Given the description of an element on the screen output the (x, y) to click on. 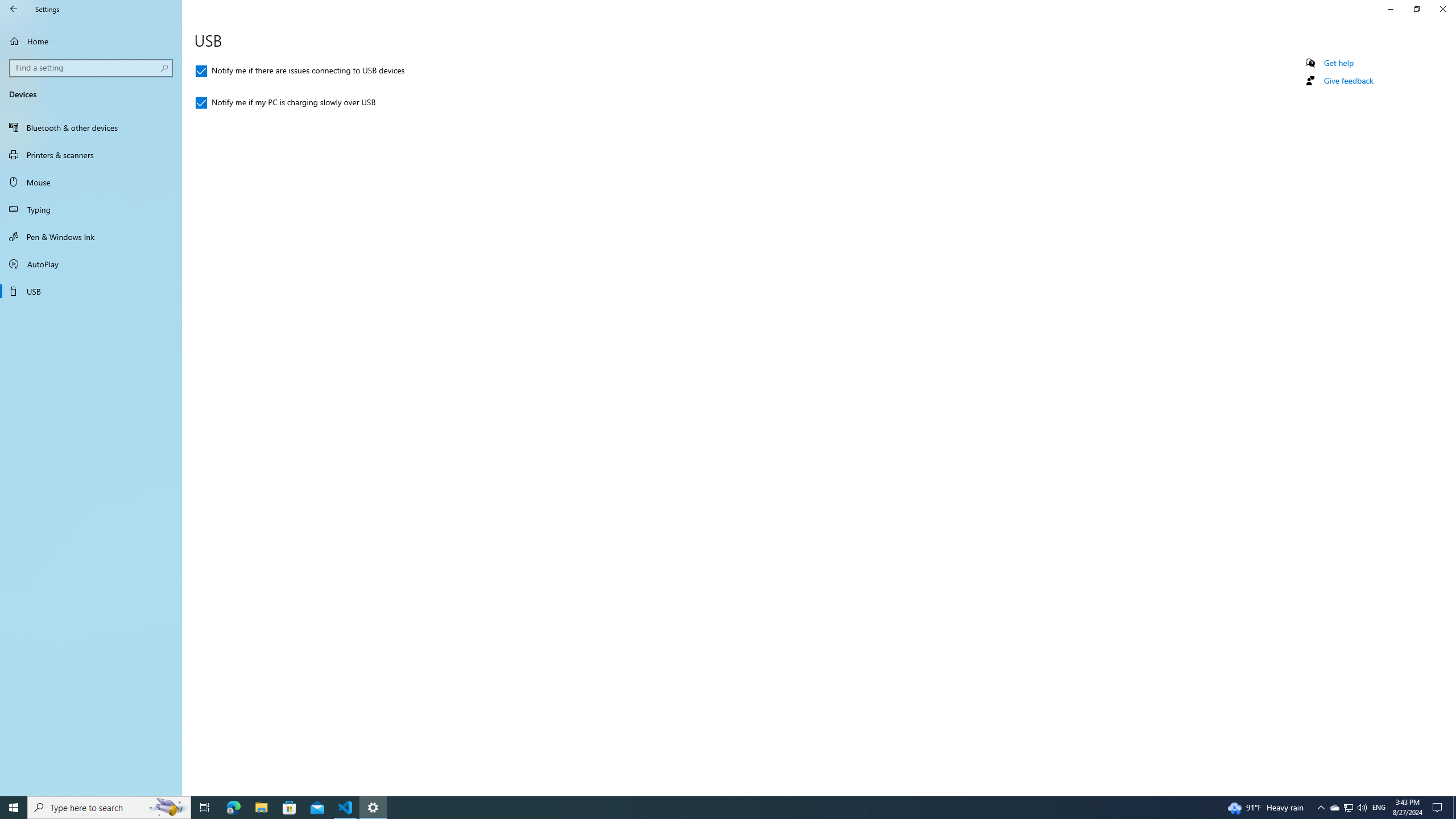
Visual Studio Code - 1 running window (345, 807)
Typing (91, 208)
Pen & Windows Ink (91, 236)
Restore Settings (1416, 9)
Type here to search (108, 807)
Notification Chevron (1320, 807)
Show desktop (1454, 807)
Get help (1338, 62)
